Given the description of an element on the screen output the (x, y) to click on. 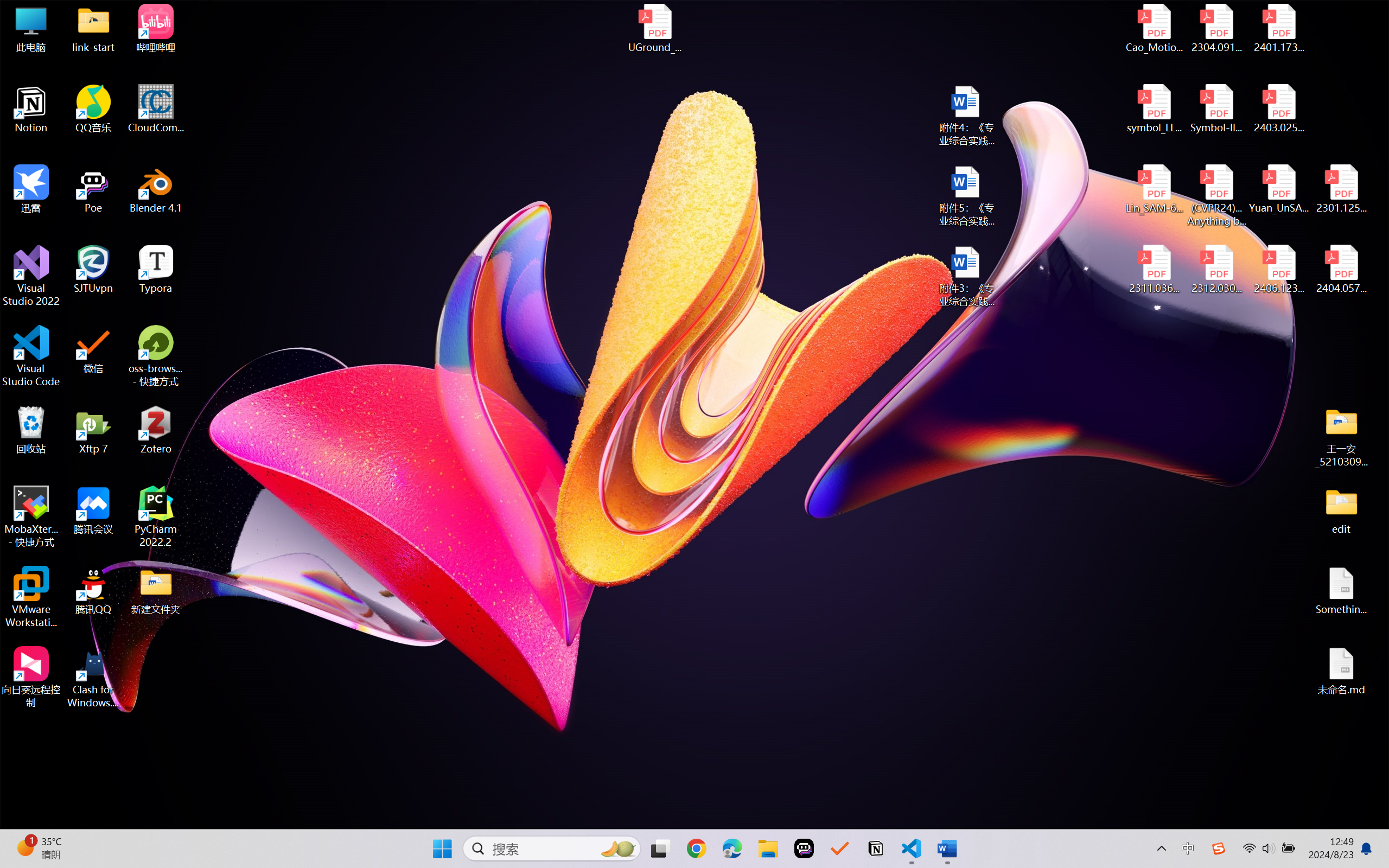
Overview (29, 99)
Sign in - Google Accounts (807, 12)
February 10, 2022 (531, 734)
8 Ball Pool - Apps on Google Play (1248, 12)
March 4, 2024 (525, 311)
Privacy Checkup (405, 12)
Comparison (547, 814)
January 15, 2024 (530, 417)
